Given the description of an element on the screen output the (x, y) to click on. 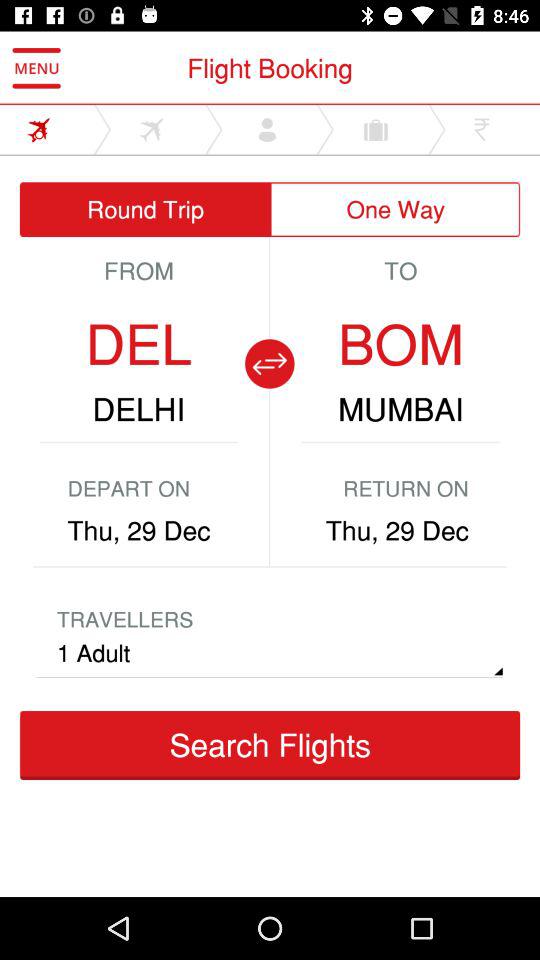
show reverse trip (269, 363)
